Given the description of an element on the screen output the (x, y) to click on. 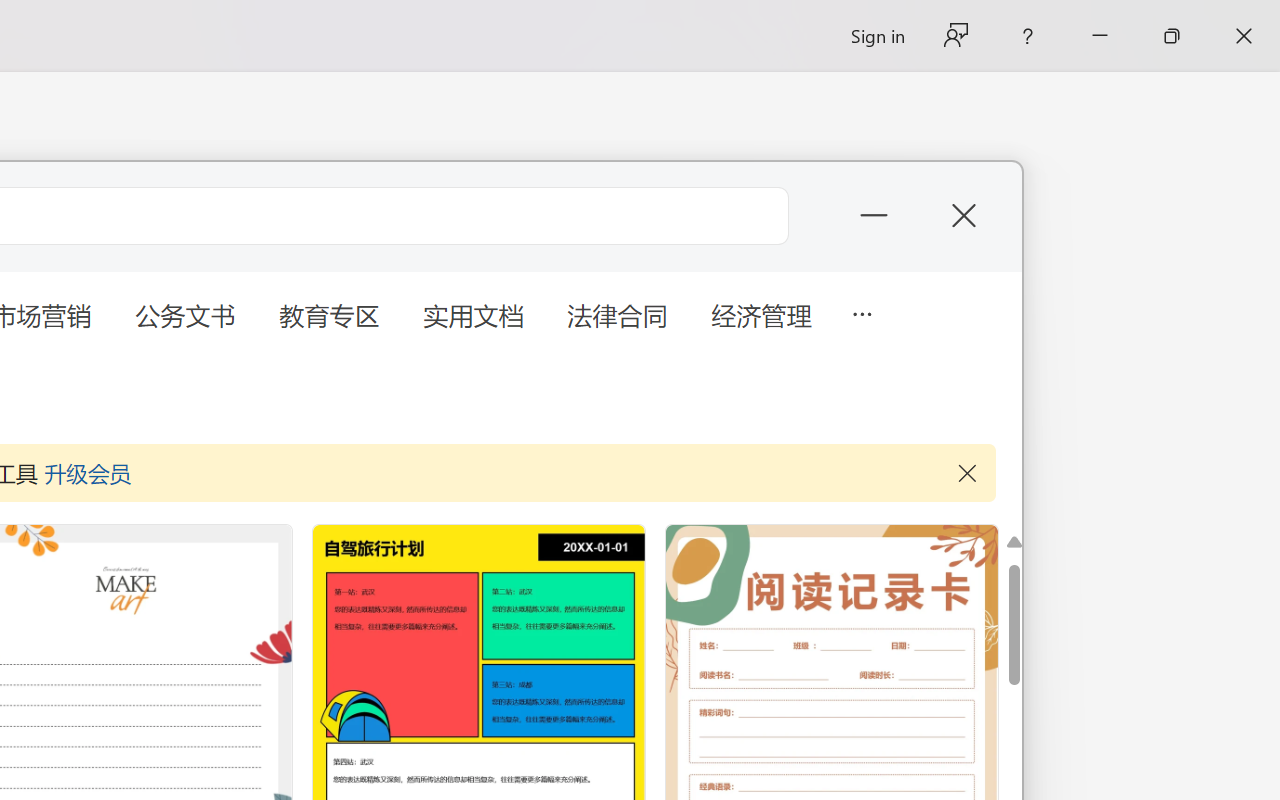
Sign in (875, 35)
5 more tabs (861, 312)
